Given the description of an element on the screen output the (x, y) to click on. 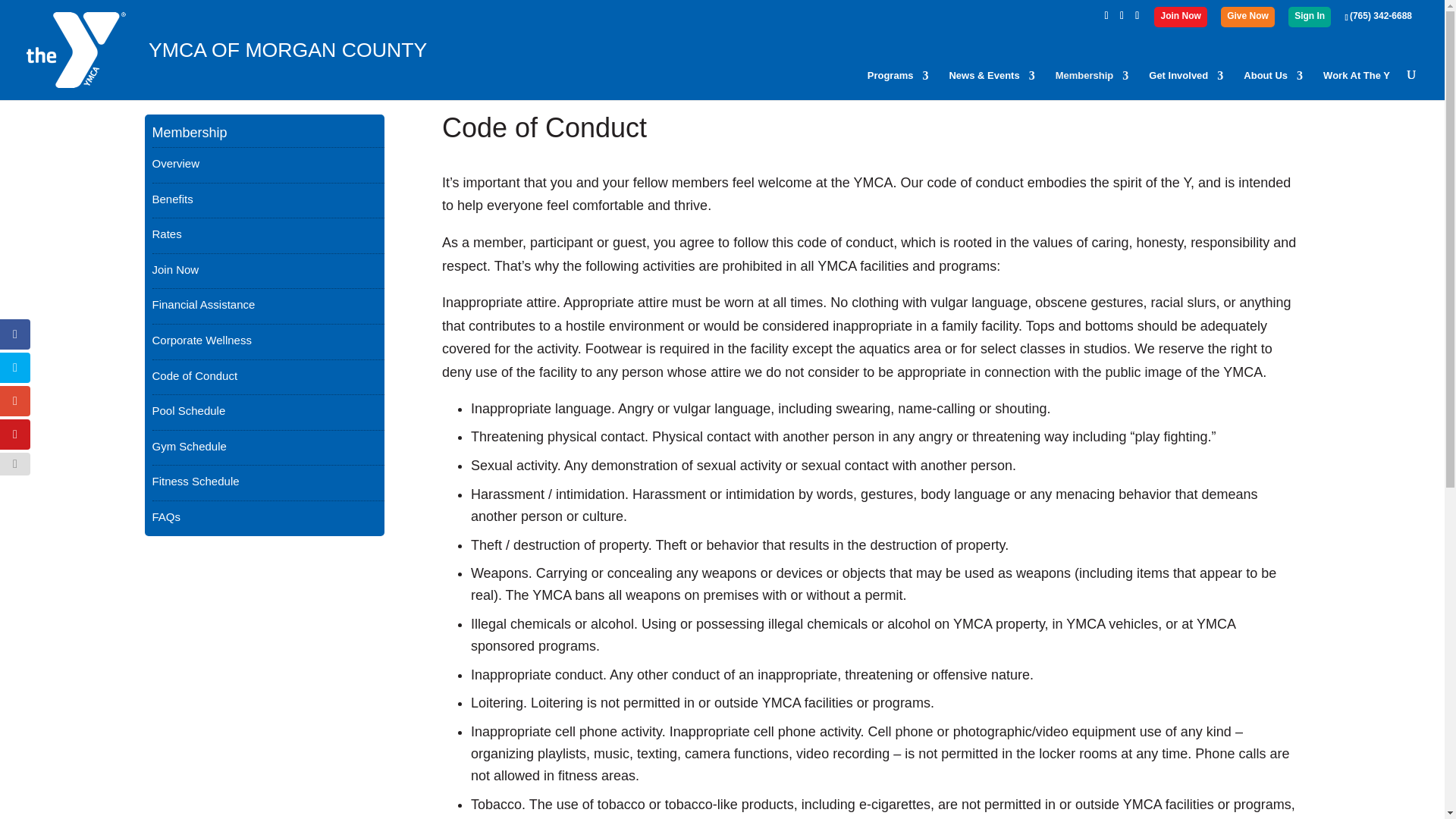
Join Now (1179, 19)
Programs (897, 84)
Membership (1092, 84)
Sign In (1309, 19)
Get Involved (1185, 84)
Give Now (1247, 19)
